Given the description of an element on the screen output the (x, y) to click on. 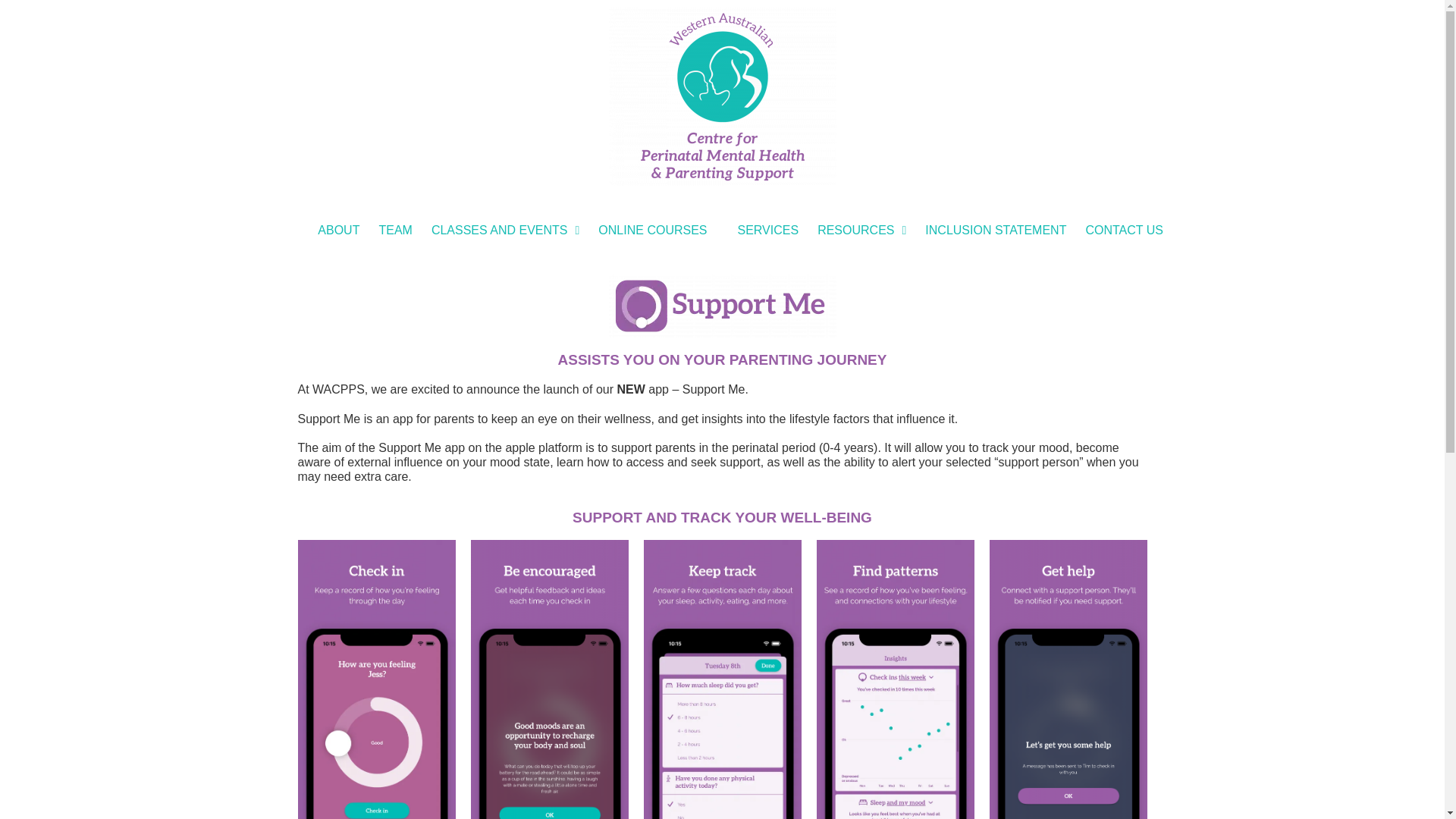
RESOURCES (861, 229)
ABOUT (338, 229)
ONLINE COURSES (652, 229)
CLASSES AND EVENTS (504, 229)
SERVICES (767, 229)
CONTACT US (1123, 229)
INCLUSION STATEMENT (995, 229)
TEAM (395, 229)
